Given the description of an element on the screen output the (x, y) to click on. 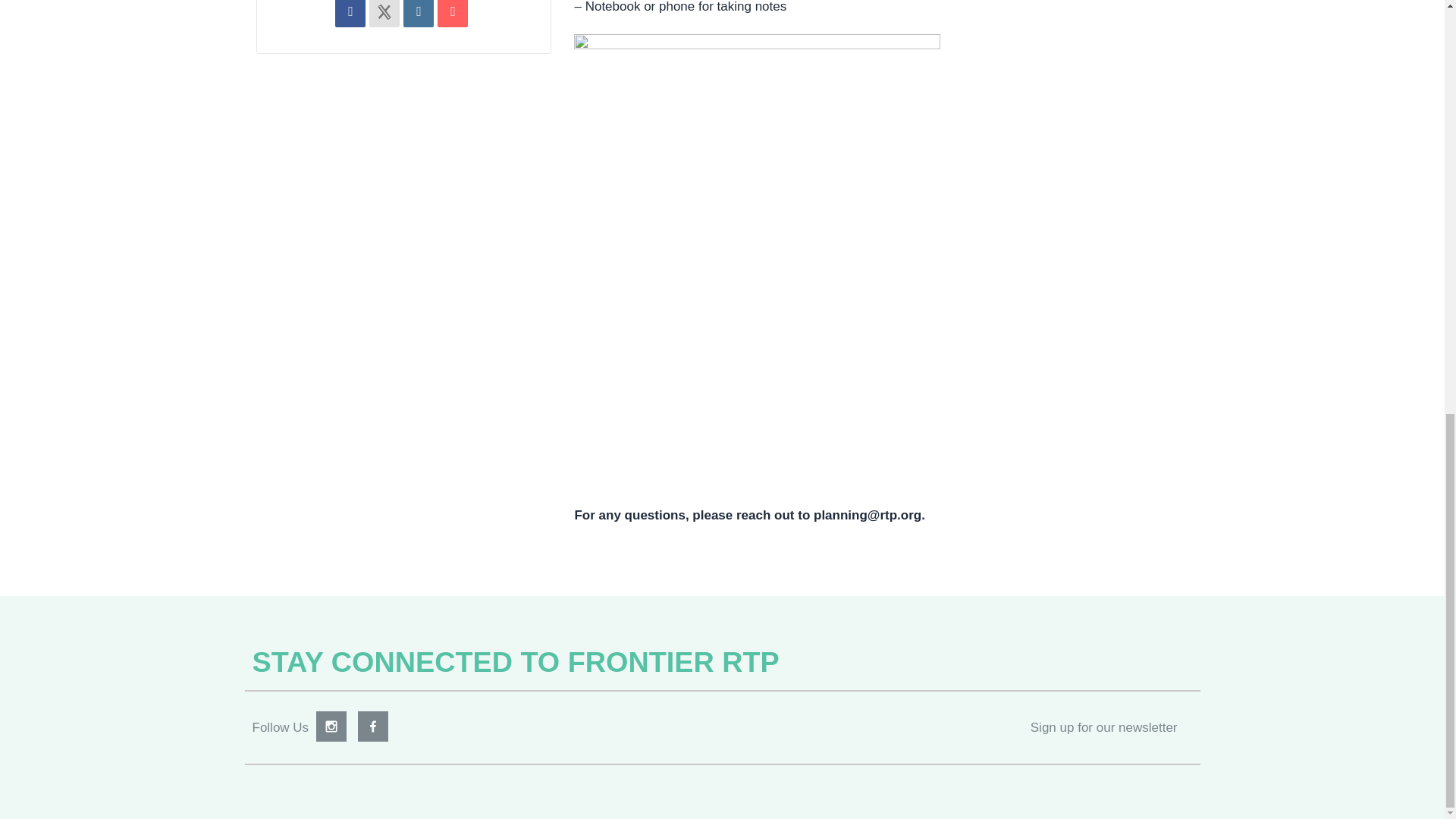
Facebook (373, 726)
Share on Facebook (349, 12)
X Social Network (383, 12)
Email (452, 12)
Linkedin (418, 12)
Instagram (330, 726)
